Given the description of an element on the screen output the (x, y) to click on. 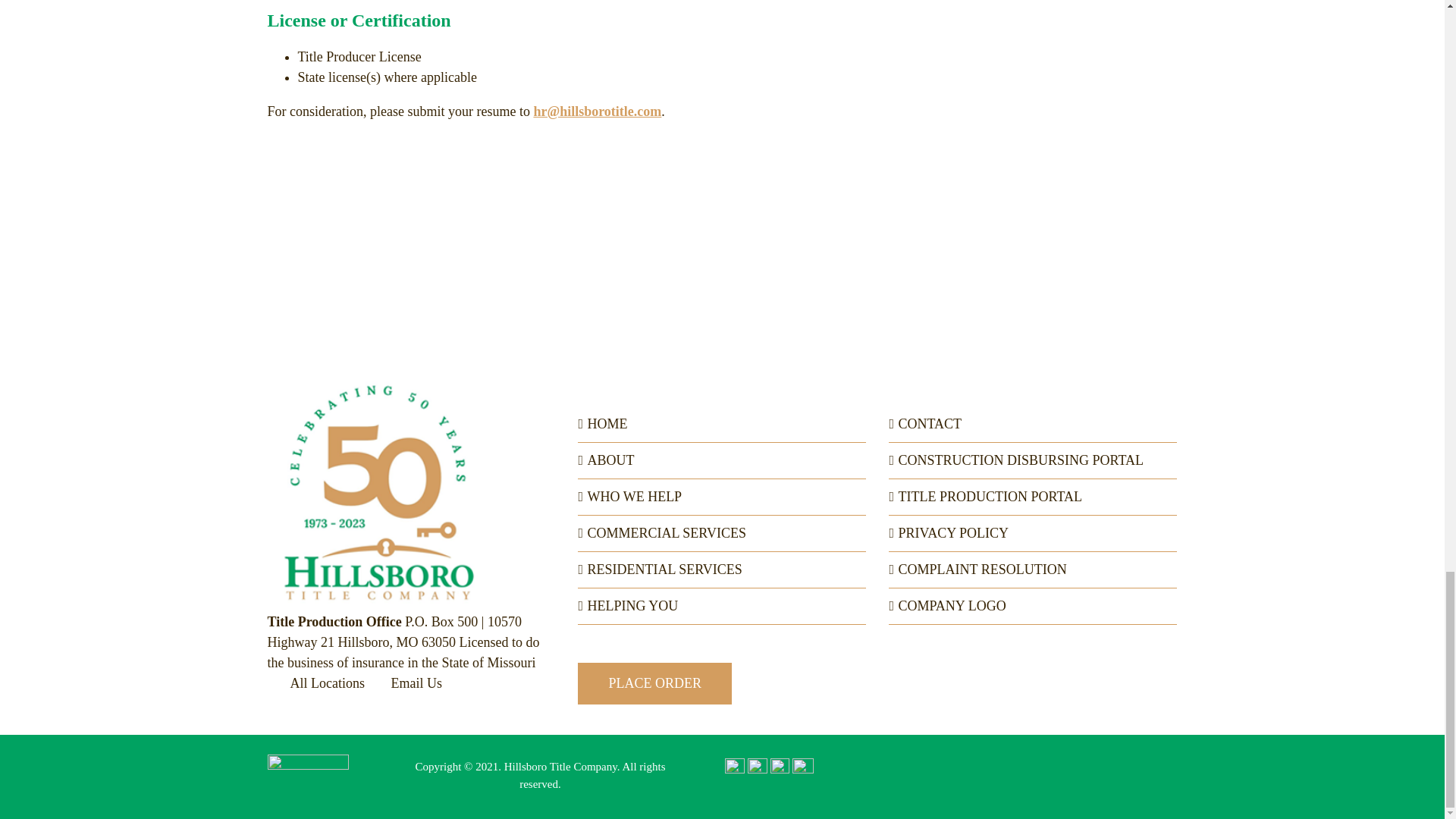
All Locations (315, 683)
Email Us (405, 683)
HOME (722, 424)
ABOUT (722, 460)
